Given the description of an element on the screen output the (x, y) to click on. 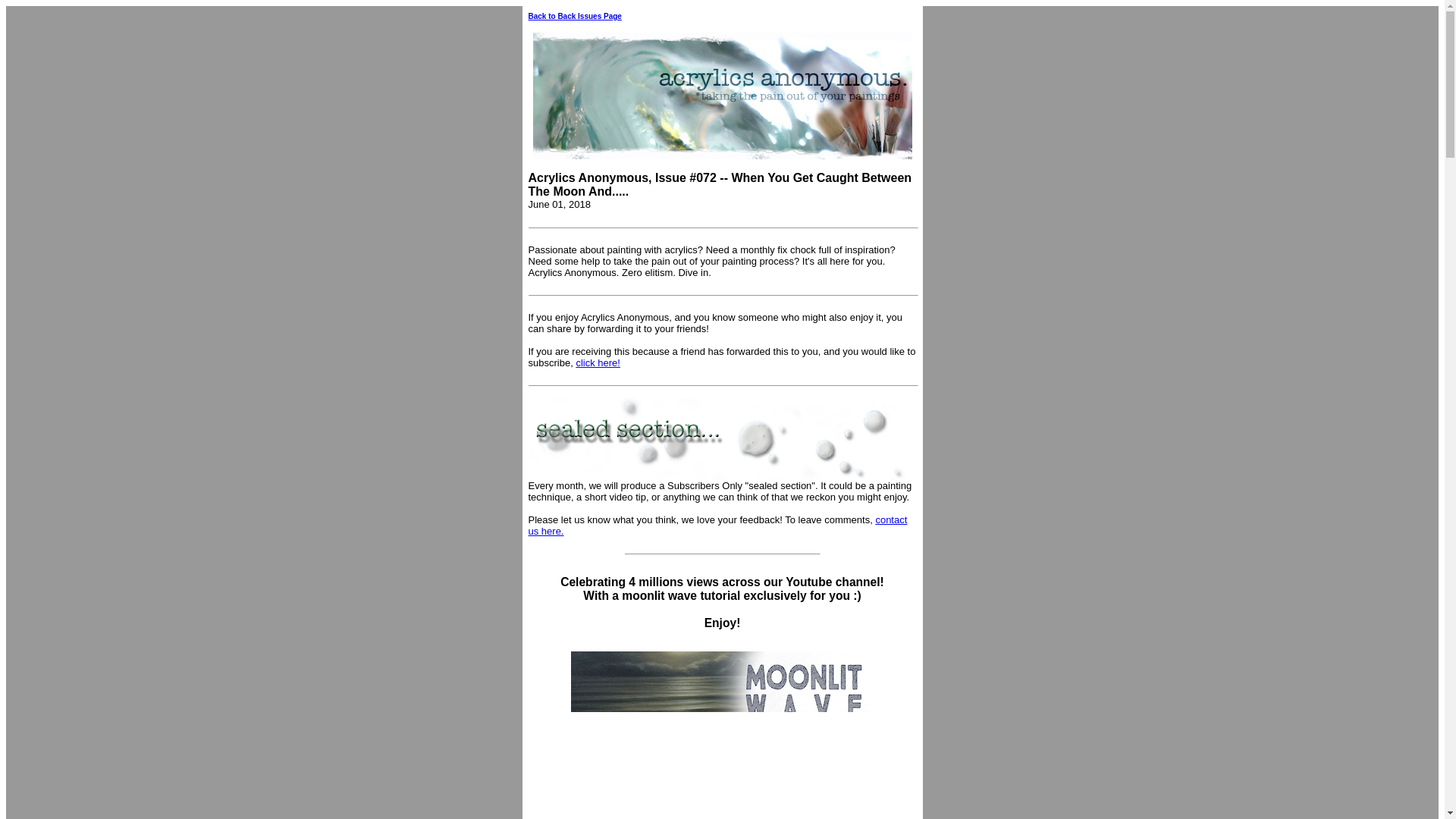
comments, (849, 519)
click here! (597, 362)
Back to Back Issues Page (574, 16)
Subscribers Only......Shhhh..... (717, 437)
contact us here. (717, 525)
